Given the description of an element on the screen output the (x, y) to click on. 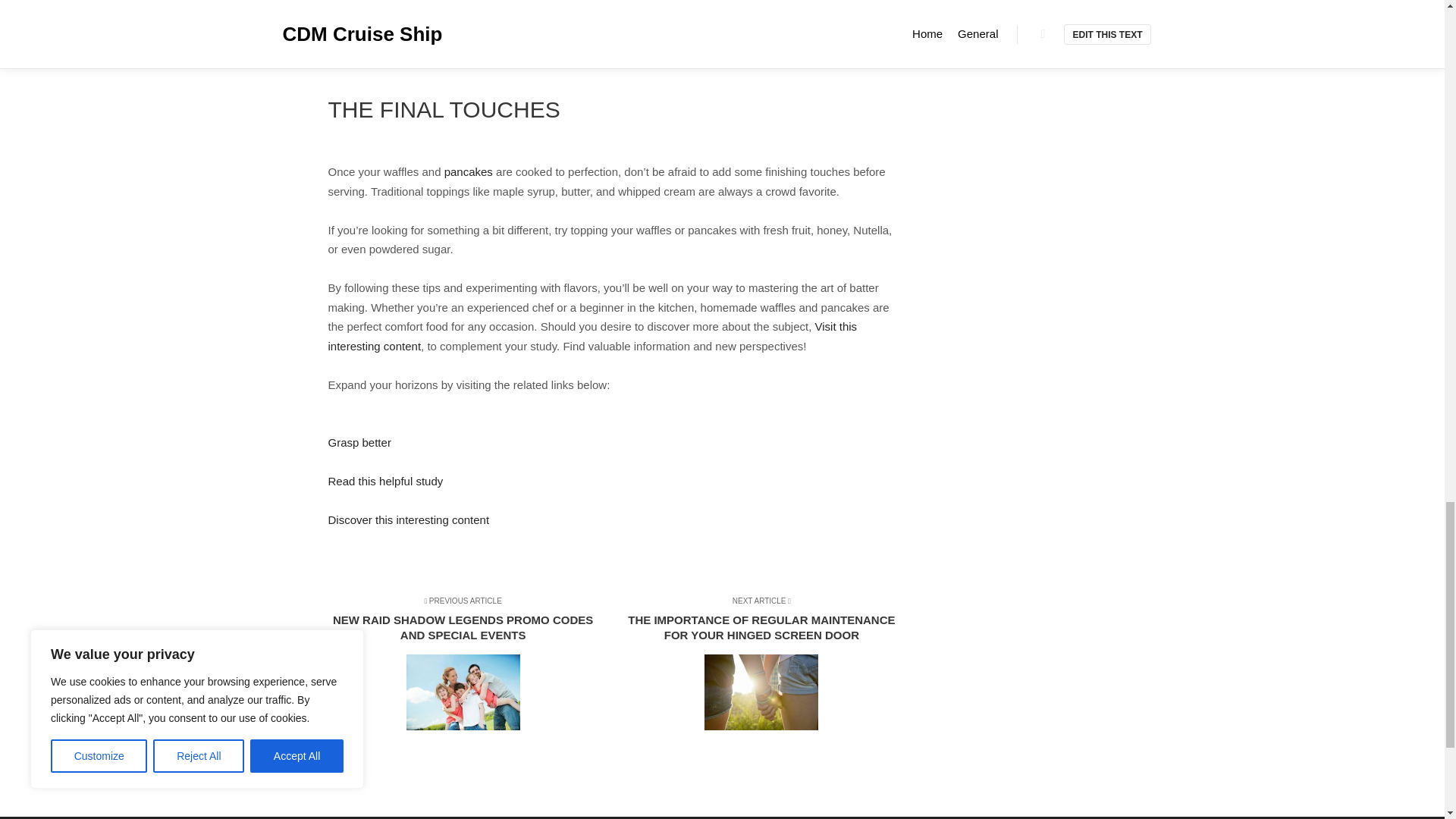
Visit this interesting content (592, 336)
pancakes (468, 171)
Grasp better (358, 441)
Discover this interesting content (408, 519)
Read this helpful study (384, 481)
